Given the description of an element on the screen output the (x, y) to click on. 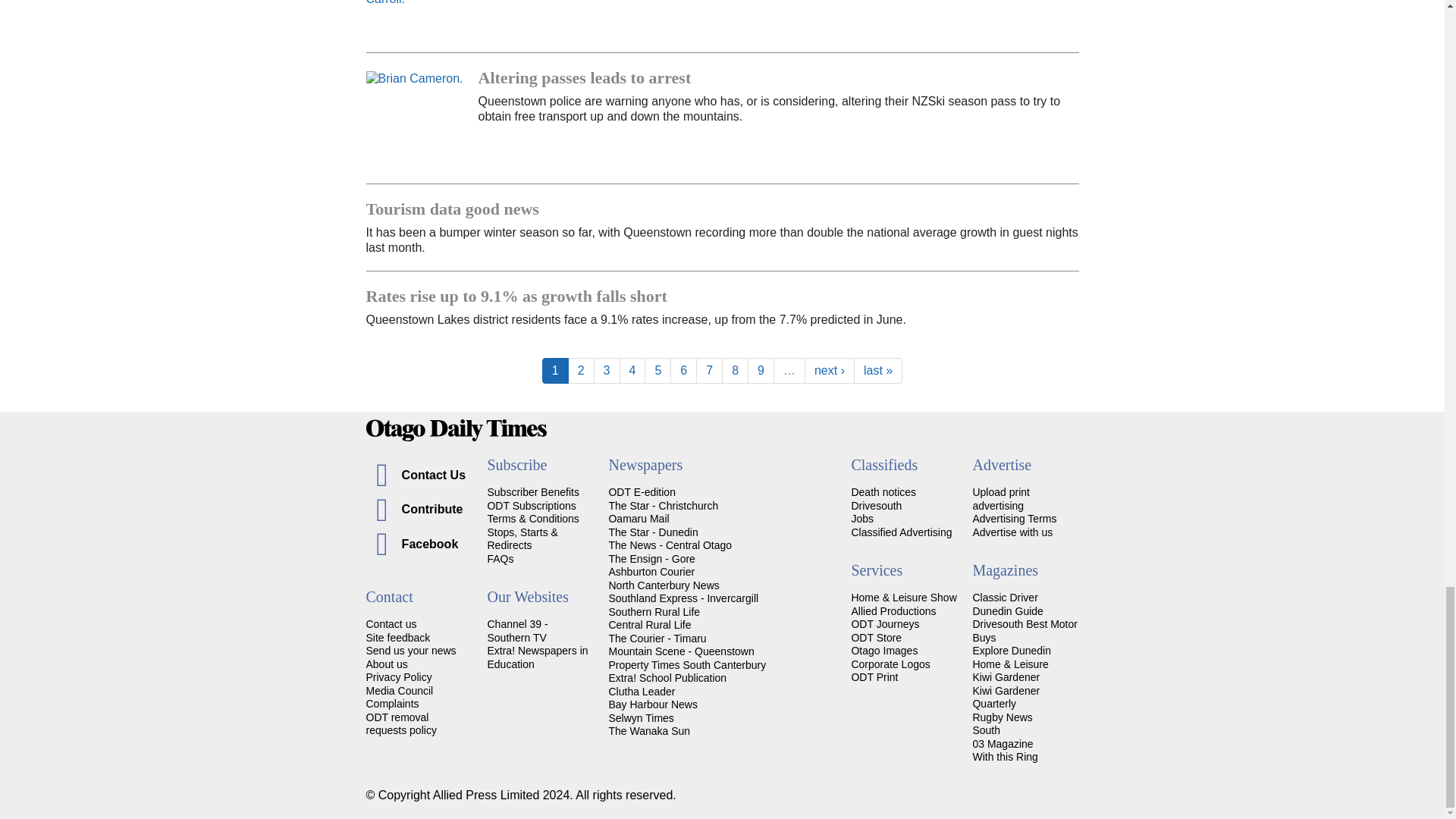
Home (721, 430)
Ways to subscribe to the Otago Daily Times (530, 505)
Go to page 3 (607, 370)
Go to page 5 (658, 370)
Go to page 8 (735, 370)
Go to page 6 (683, 370)
Go to next page (829, 370)
Get the ODT delivered right to you! (532, 491)
Go to page 7 (708, 370)
Go to page 4 (631, 370)
